Given the description of an element on the screen output the (x, y) to click on. 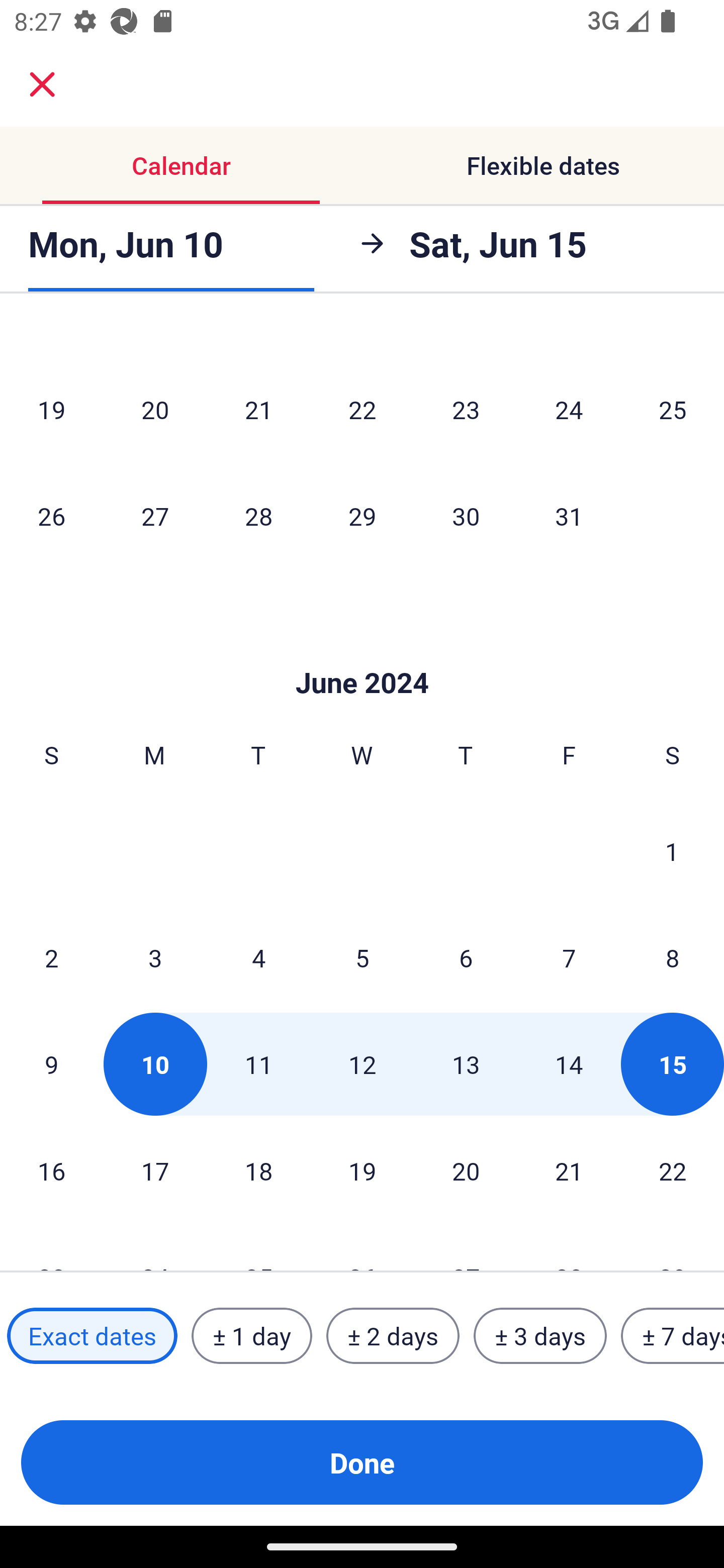
close. (42, 84)
Flexible dates (542, 164)
19 Sunday, May 19, 2024 (51, 408)
20 Monday, May 20, 2024 (155, 408)
21 Tuesday, May 21, 2024 (258, 408)
22 Wednesday, May 22, 2024 (362, 408)
23 Thursday, May 23, 2024 (465, 408)
24 Friday, May 24, 2024 (569, 408)
25 Saturday, May 25, 2024 (672, 408)
26 Sunday, May 26, 2024 (51, 515)
27 Monday, May 27, 2024 (155, 515)
28 Tuesday, May 28, 2024 (258, 515)
29 Wednesday, May 29, 2024 (362, 515)
30 Thursday, May 30, 2024 (465, 515)
31 Friday, May 31, 2024 (569, 515)
Skip to Done (362, 651)
1 Saturday, June 1, 2024 (672, 851)
2 Sunday, June 2, 2024 (51, 957)
3 Monday, June 3, 2024 (155, 957)
4 Tuesday, June 4, 2024 (258, 957)
5 Wednesday, June 5, 2024 (362, 957)
6 Thursday, June 6, 2024 (465, 957)
7 Friday, June 7, 2024 (569, 957)
8 Saturday, June 8, 2024 (672, 957)
9 Sunday, June 9, 2024 (51, 1064)
16 Sunday, June 16, 2024 (51, 1170)
17 Monday, June 17, 2024 (155, 1170)
18 Tuesday, June 18, 2024 (258, 1170)
19 Wednesday, June 19, 2024 (362, 1170)
20 Thursday, June 20, 2024 (465, 1170)
21 Friday, June 21, 2024 (569, 1170)
22 Saturday, June 22, 2024 (672, 1170)
Exact dates (92, 1335)
± 1 day (251, 1335)
± 2 days (392, 1335)
± 3 days (539, 1335)
± 7 days (672, 1335)
Done (361, 1462)
